Given the description of an element on the screen output the (x, y) to click on. 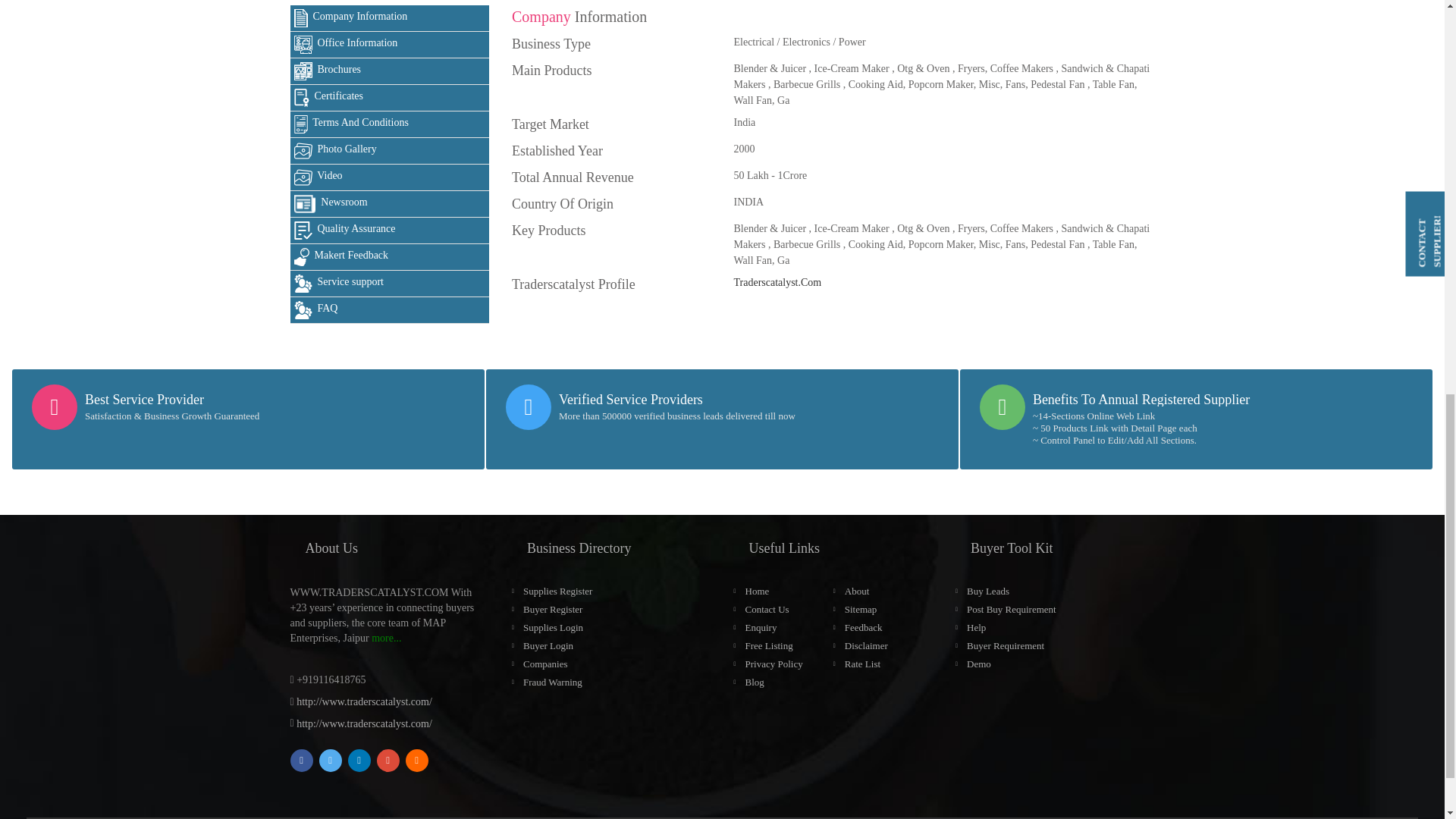
  Makert Feedback (389, 257)
  Video (389, 177)
  Photo Gallery (389, 151)
  Terms And Conditions (389, 124)
  Newsroom (389, 203)
  Certificates (389, 98)
  Office Information (389, 44)
  Quality Assurance (389, 230)
  Brochures (389, 71)
  Service support (389, 284)
